Given the description of an element on the screen output the (x, y) to click on. 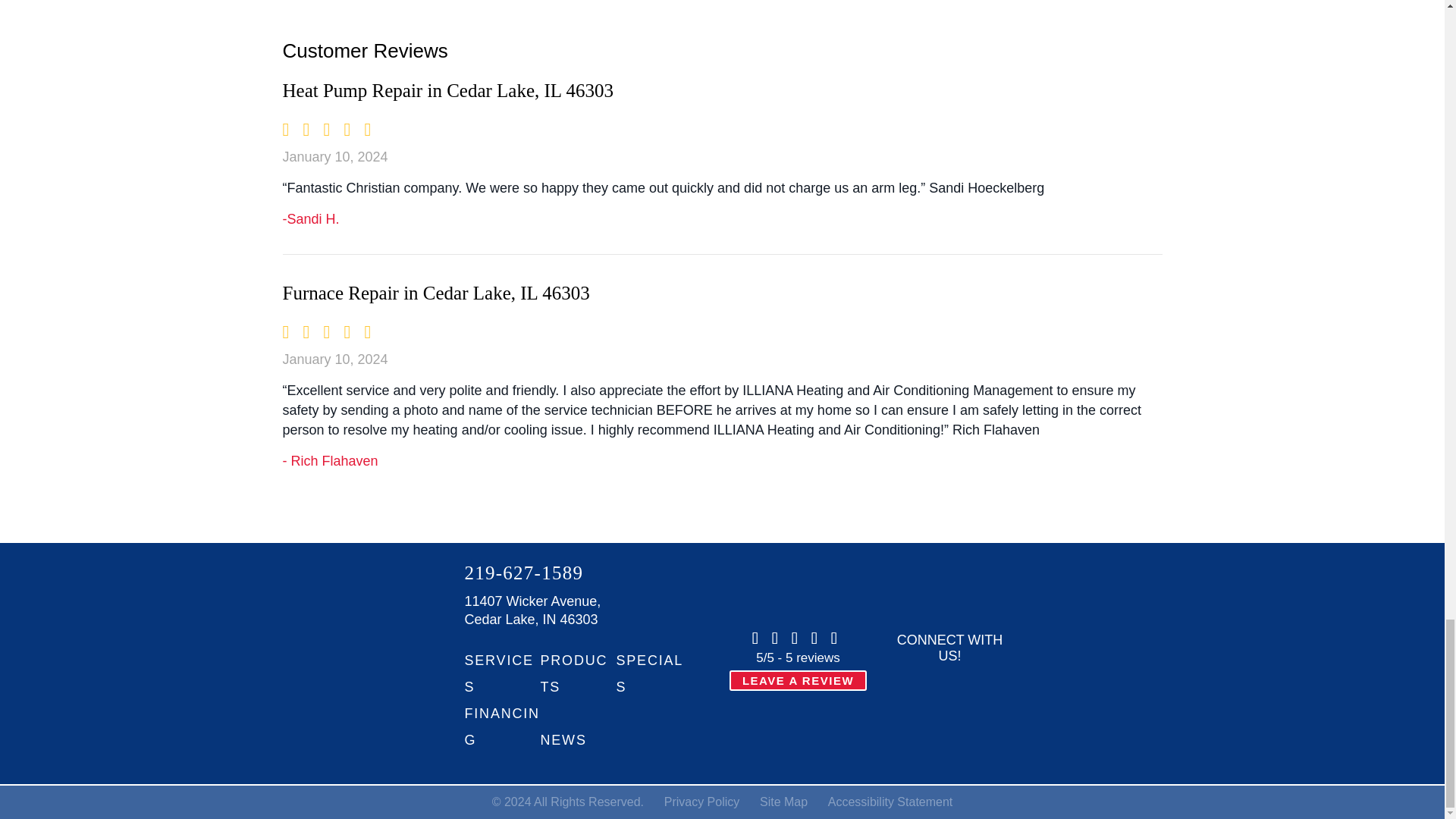
logo stacked-outlined (357, 663)
